Given the description of an element on the screen output the (x, y) to click on. 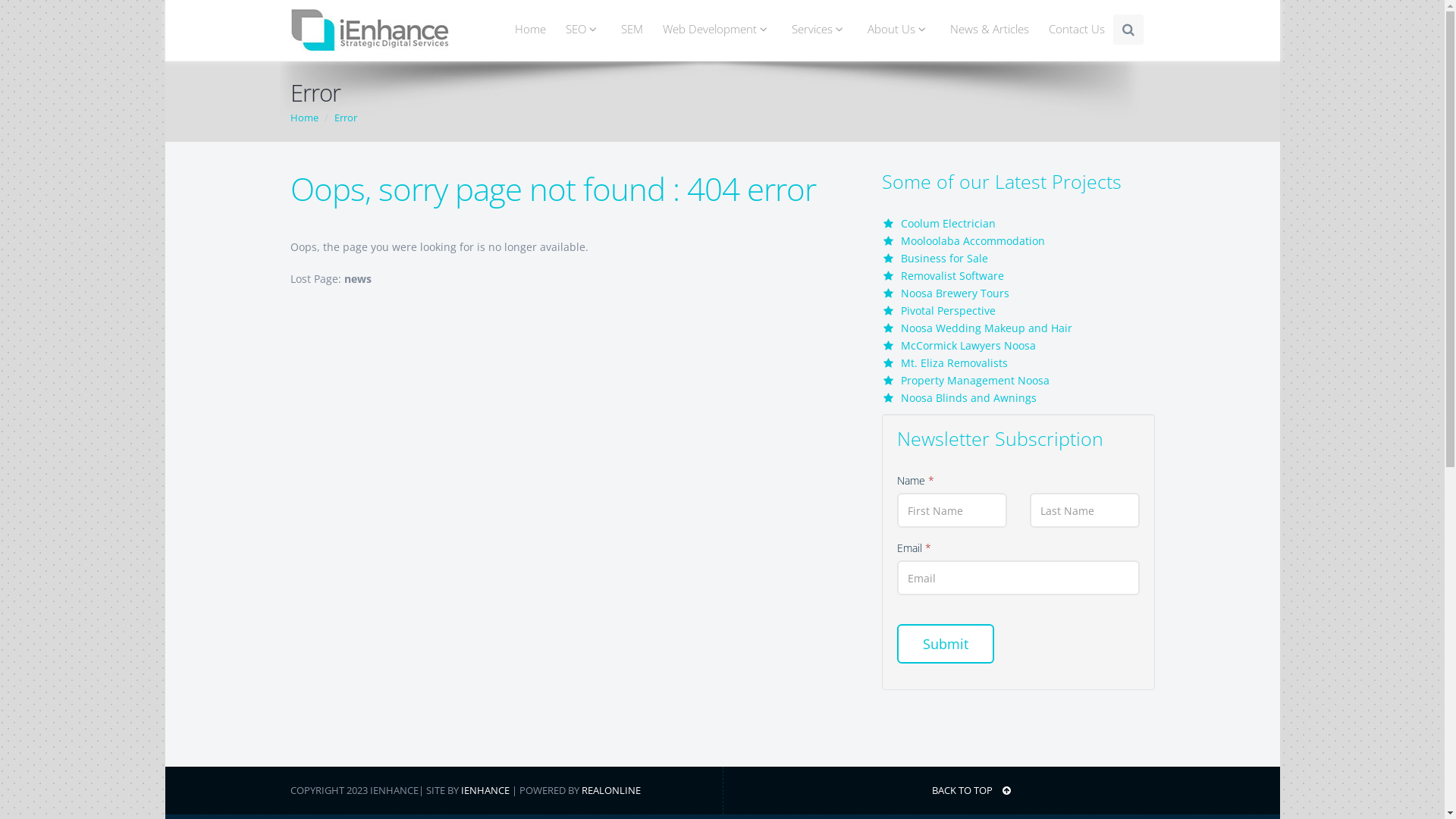
REALONLINE Element type: text (610, 790)
Home Element type: text (530, 29)
Business for Sale Element type: text (944, 258)
Submit Element type: text (944, 643)
Noosa Brewery Tours Element type: text (954, 292)
Noosa Wedding Makeup and Hair Element type: text (986, 327)
Services Element type: text (818, 29)
Removalist Software Element type: text (952, 275)
News & Articles Element type: text (989, 29)
Mooloolaba Accommodation Element type: text (972, 240)
SEM Element type: text (631, 29)
Home Element type: text (303, 117)
Contact Us Element type: text (1076, 29)
Noosa Blinds and Awnings Element type: text (968, 397)
Web Development Element type: text (716, 29)
McCormick Lawyers Noosa Element type: text (967, 345)
Coolum Electrician Element type: text (947, 223)
BACK TO TOP Element type: text (943, 790)
About Us Element type: text (898, 29)
SEO Element type: text (582, 29)
IENHANCE Element type: text (485, 790)
Error Element type: text (344, 117)
Property Management Noosa Element type: text (974, 380)
Mt. Eliza Removalists Element type: text (953, 362)
Pivotal Perspective Element type: text (947, 310)
